Given the description of an element on the screen output the (x, y) to click on. 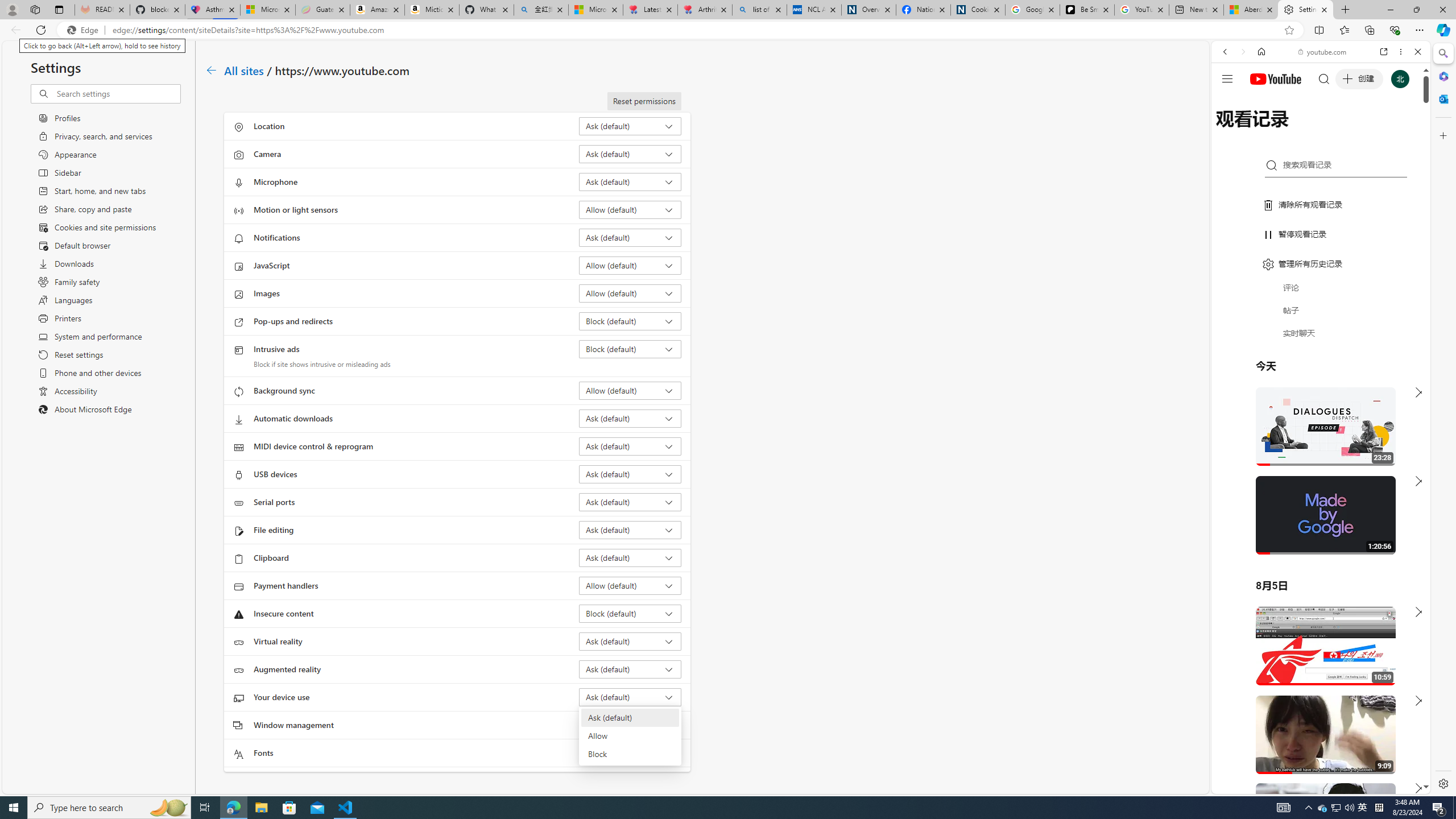
Be Smart | creating Science videos | Patreon (1087, 9)
Trailer #2 [HD] (1320, 337)
Music (1320, 309)
Search Filter, VIDEOS (1300, 129)
Google (1320, 281)
youtube.com (1322, 51)
Home (1261, 51)
Close Outlook pane (1442, 98)
Cookies (978, 9)
Preferences (1403, 129)
